Given the description of an element on the screen output the (x, y) to click on. 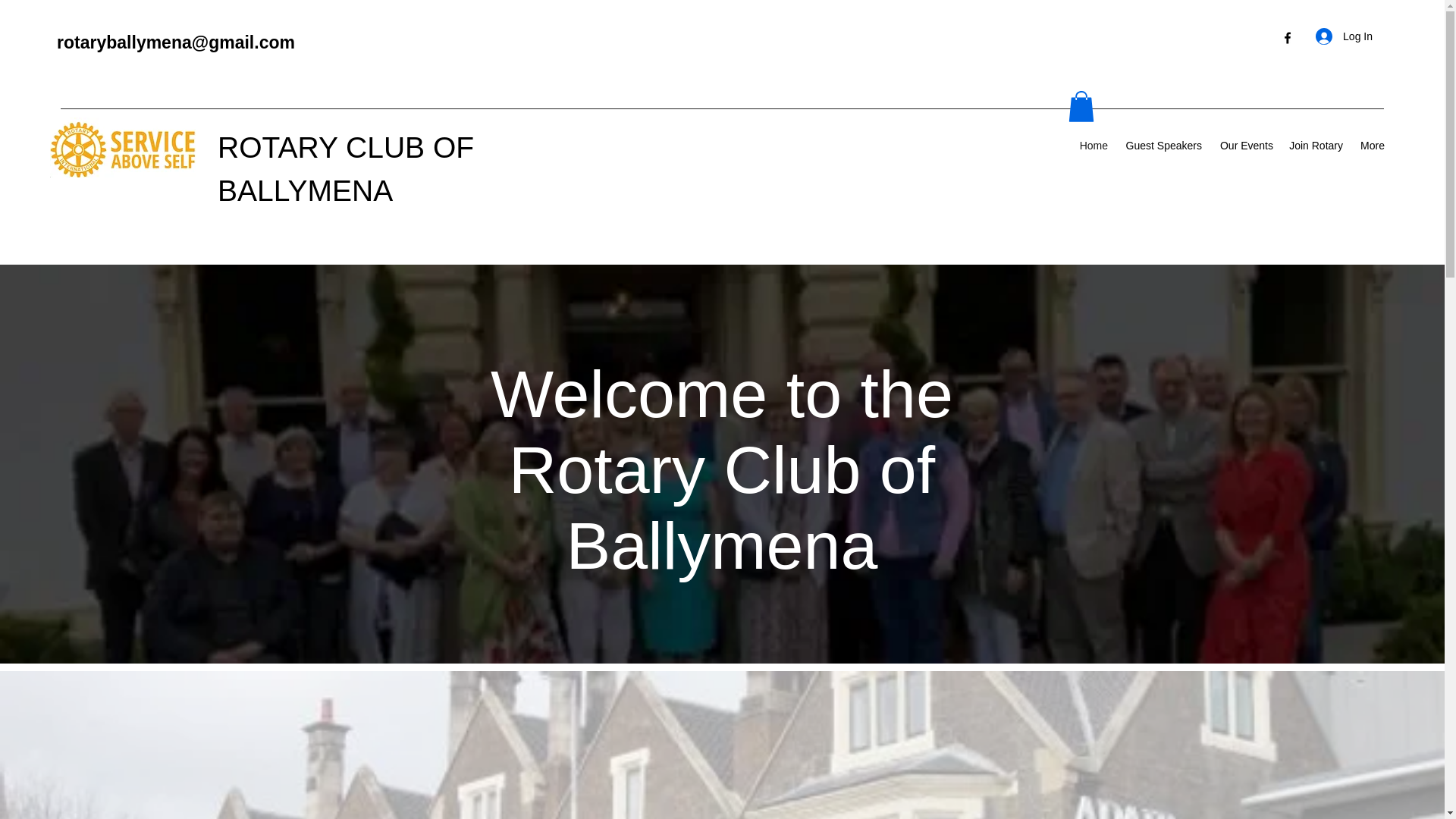
Join Rotary (1316, 145)
Our Events (1245, 145)
Home (1092, 145)
Guest Speakers (1162, 145)
Log In (1343, 36)
